Given the description of an element on the screen output the (x, y) to click on. 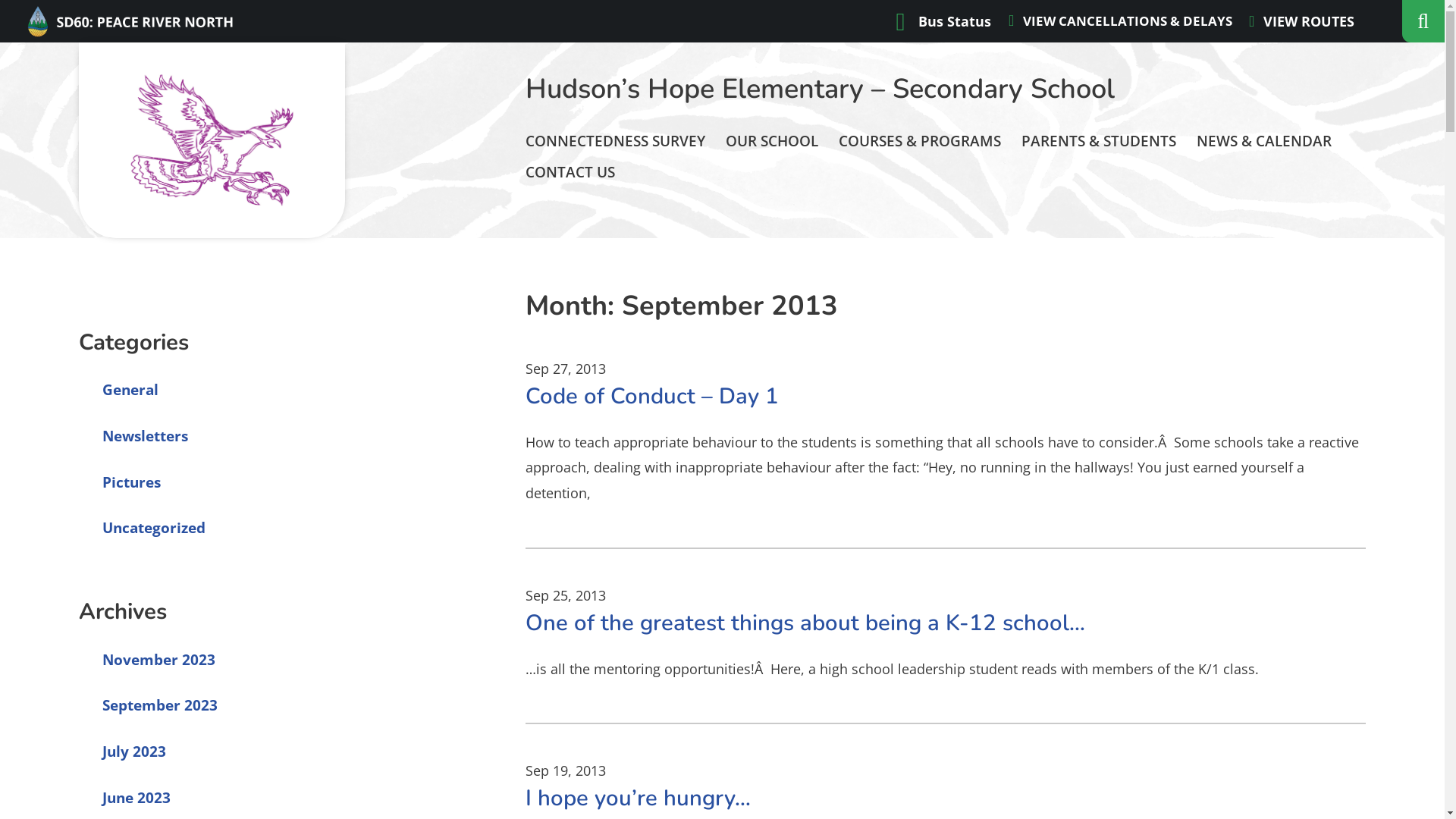
Uncategorized Element type: text (142, 527)
VIEW ROUTES Element type: text (1301, 20)
COURSES & PROGRAMS Element type: text (919, 140)
General Element type: text (118, 389)
PARENTS & STUDENTS Element type: text (1098, 140)
June 2023 Element type: text (124, 797)
September 2023 Element type: text (148, 705)
November 2023 Element type: text (147, 659)
CONTACT US Element type: text (570, 172)
Newsletters Element type: text (133, 435)
NEWS & CALENDAR Element type: text (1263, 140)
Pictures Element type: text (119, 482)
CONNECTEDNESS SURVEY Element type: text (615, 140)
OUR SCHOOL Element type: text (771, 140)
July 2023 Element type: text (122, 751)
VIEW CANCELLATIONS & DELAYS Element type: text (1120, 20)
